Given the description of an element on the screen output the (x, y) to click on. 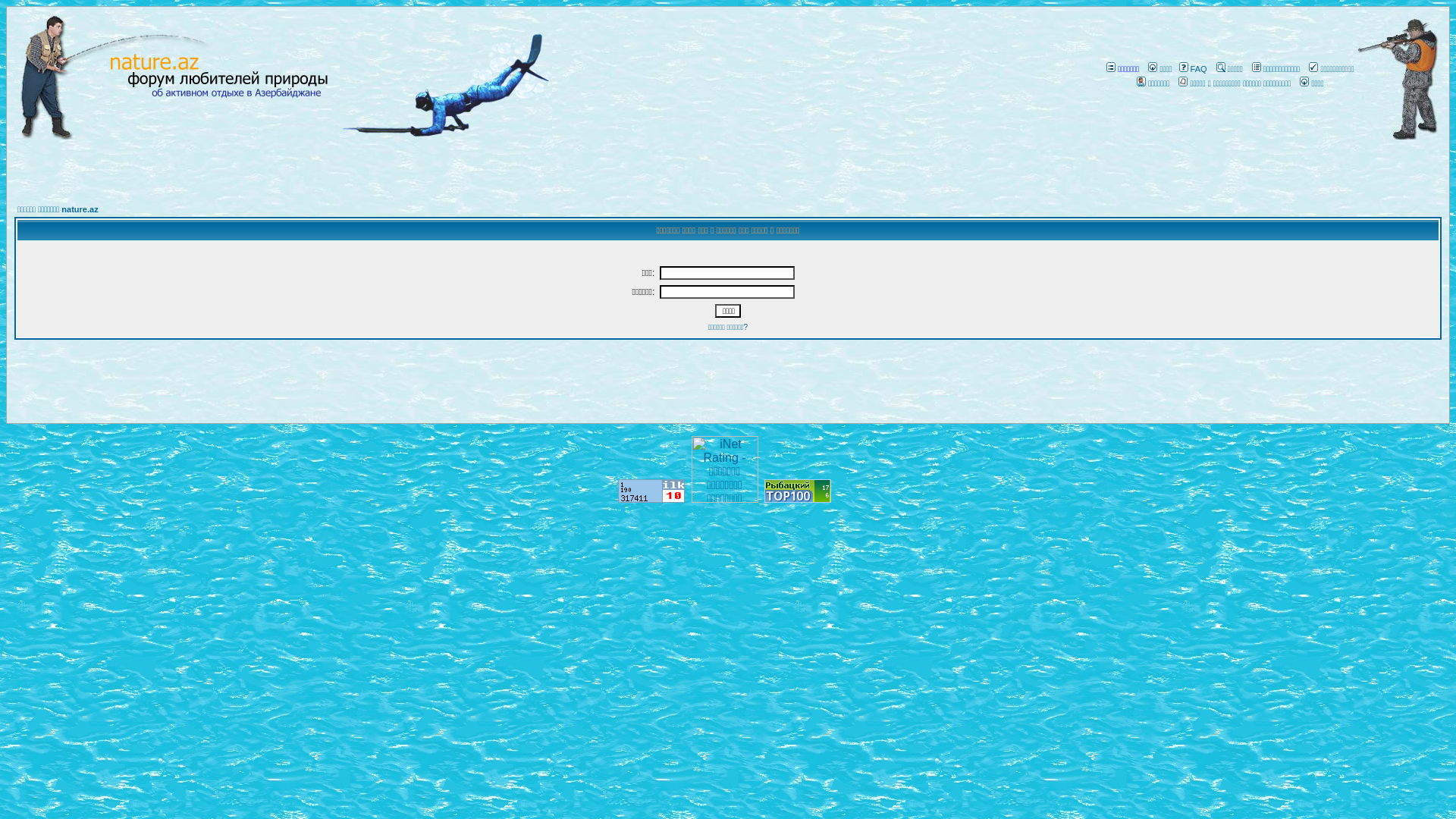
Advertisement Element type: hover (549, 391)
Advertisement Element type: hover (548, 162)
Advertisement Element type: hover (906, 162)
Advertisement Element type: hover (905, 391)
FAQ Element type: text (1191, 67)
